Given the description of an element on the screen output the (x, y) to click on. 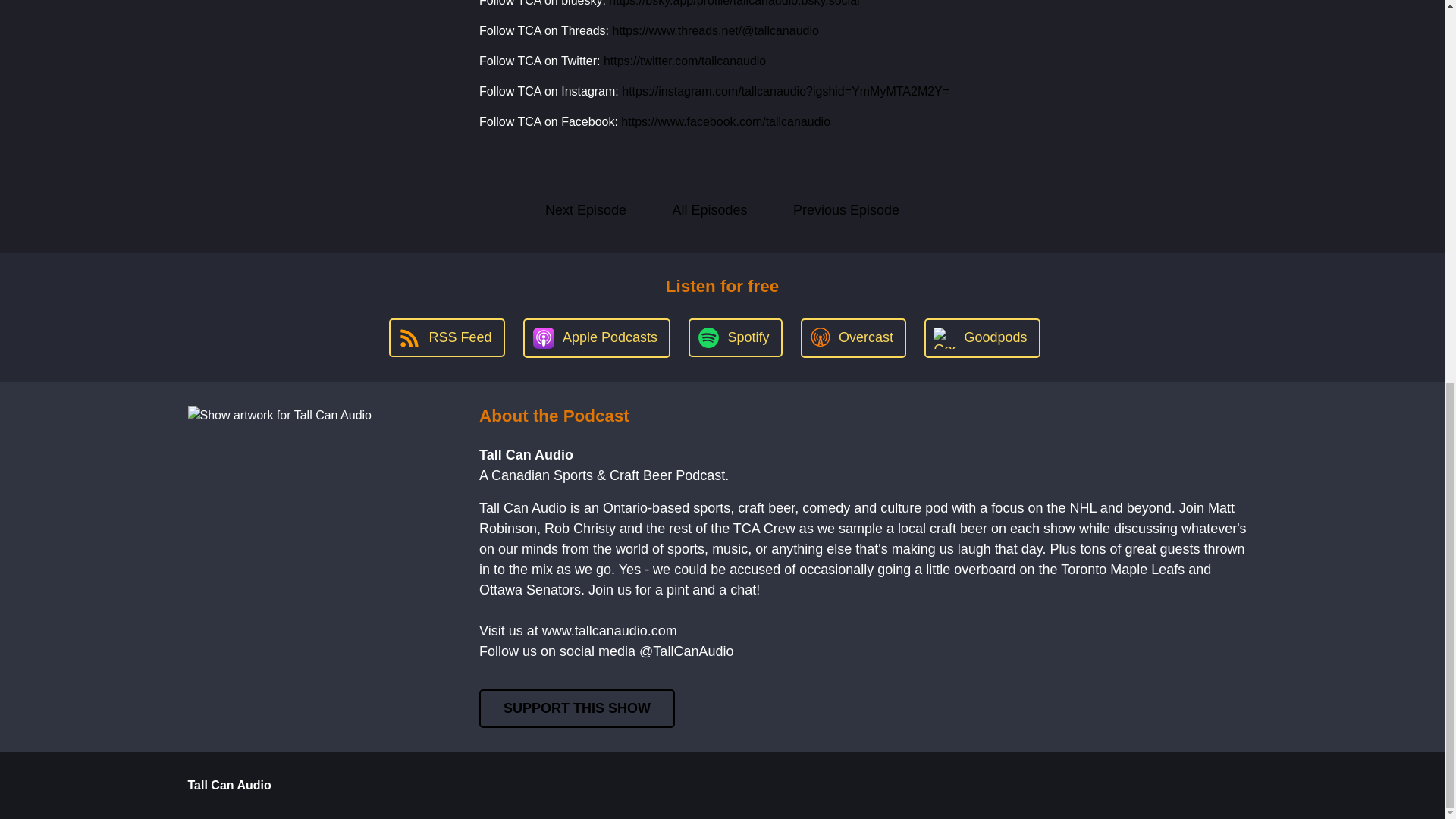
SUPPORT THIS SHOW (577, 708)
All Episodes (709, 210)
Next Episode (585, 210)
Spotify (734, 337)
RSS Feed (445, 337)
Overcast (852, 337)
Previous Episode (845, 210)
Goodpods (981, 337)
Apple Podcasts (595, 337)
